Given the description of an element on the screen output the (x, y) to click on. 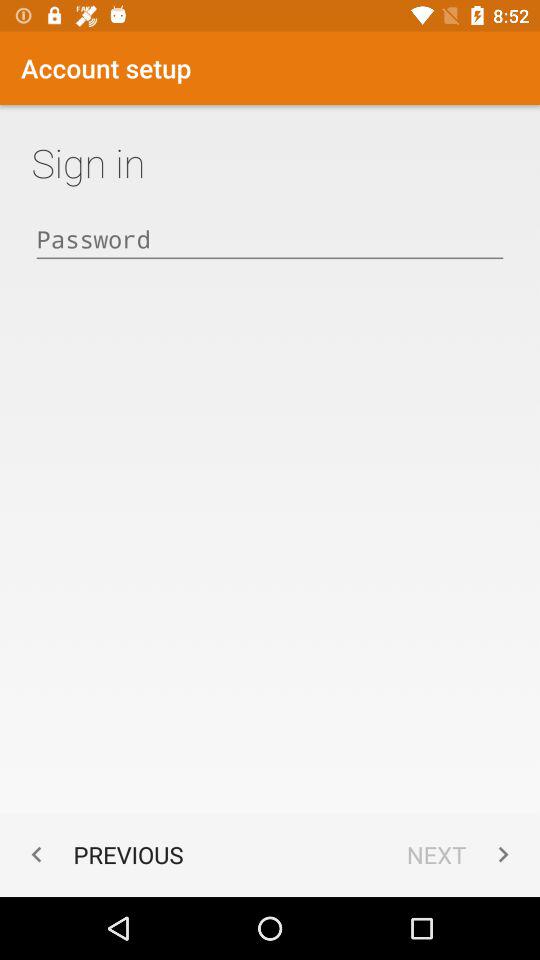
tap the previous icon (102, 854)
